Given the description of an element on the screen output the (x, y) to click on. 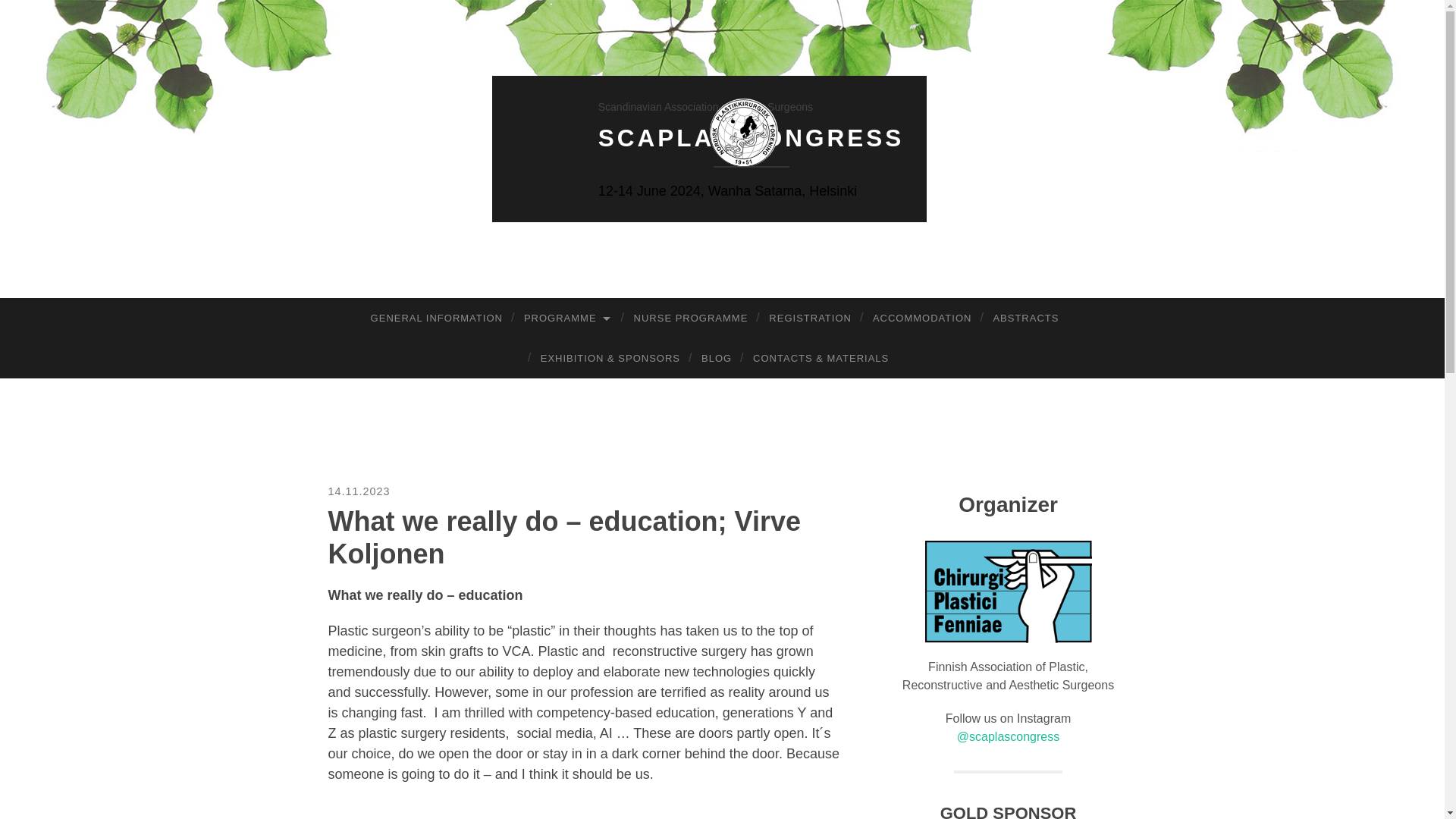
ACCOMMODATION (921, 318)
GENERAL INFORMATION (436, 318)
SCAPLAS CONGRESS (709, 132)
NURSE PROGRAMME (690, 318)
14.11.2023 (358, 491)
REGISTRATION (809, 318)
ABSTRACTS (1024, 318)
BLOG (716, 358)
PROGRAMME (568, 318)
